Given the description of an element on the screen output the (x, y) to click on. 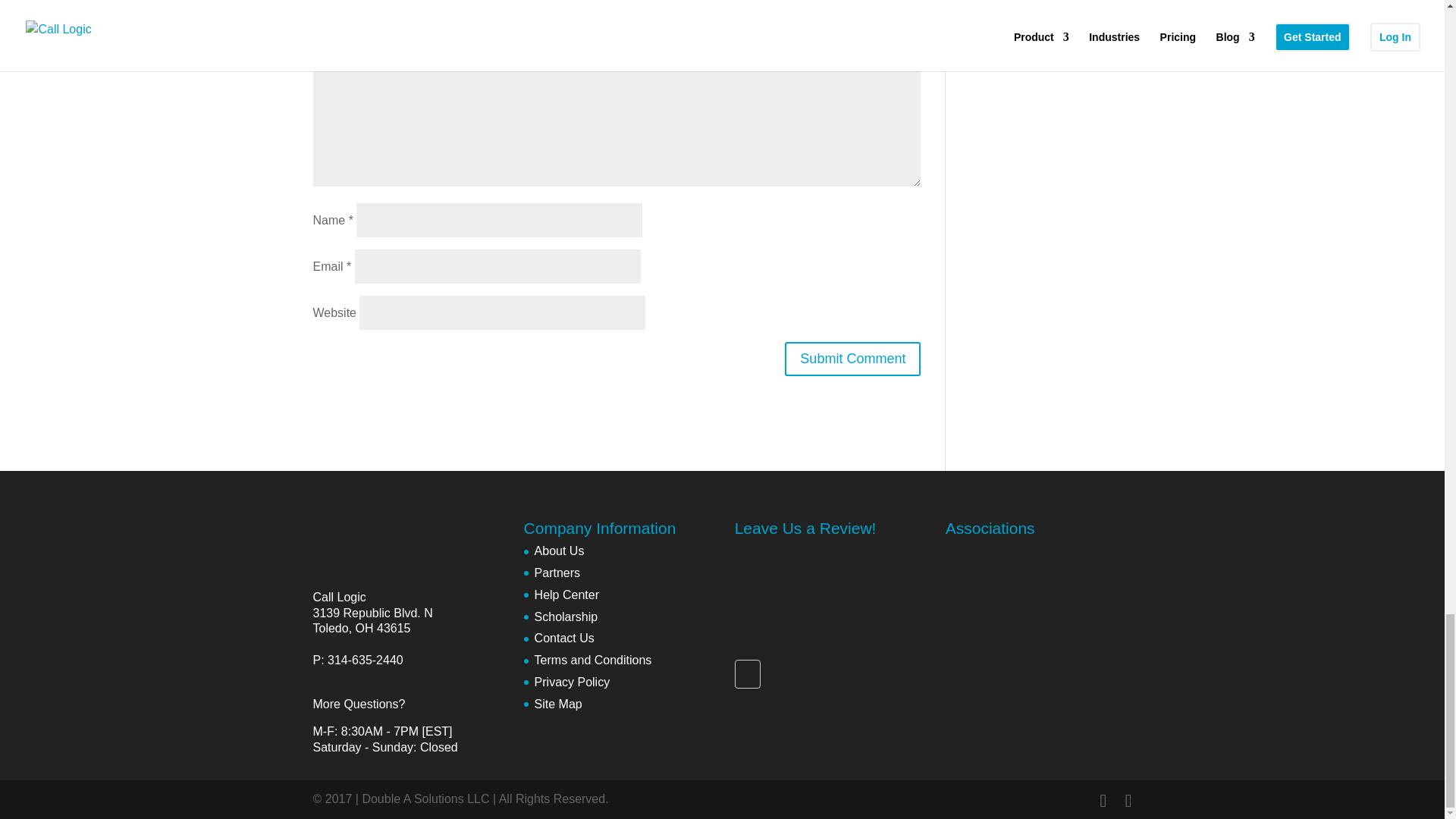
Submit Comment (852, 358)
Submit Comment (852, 358)
